Given the description of an element on the screen output the (x, y) to click on. 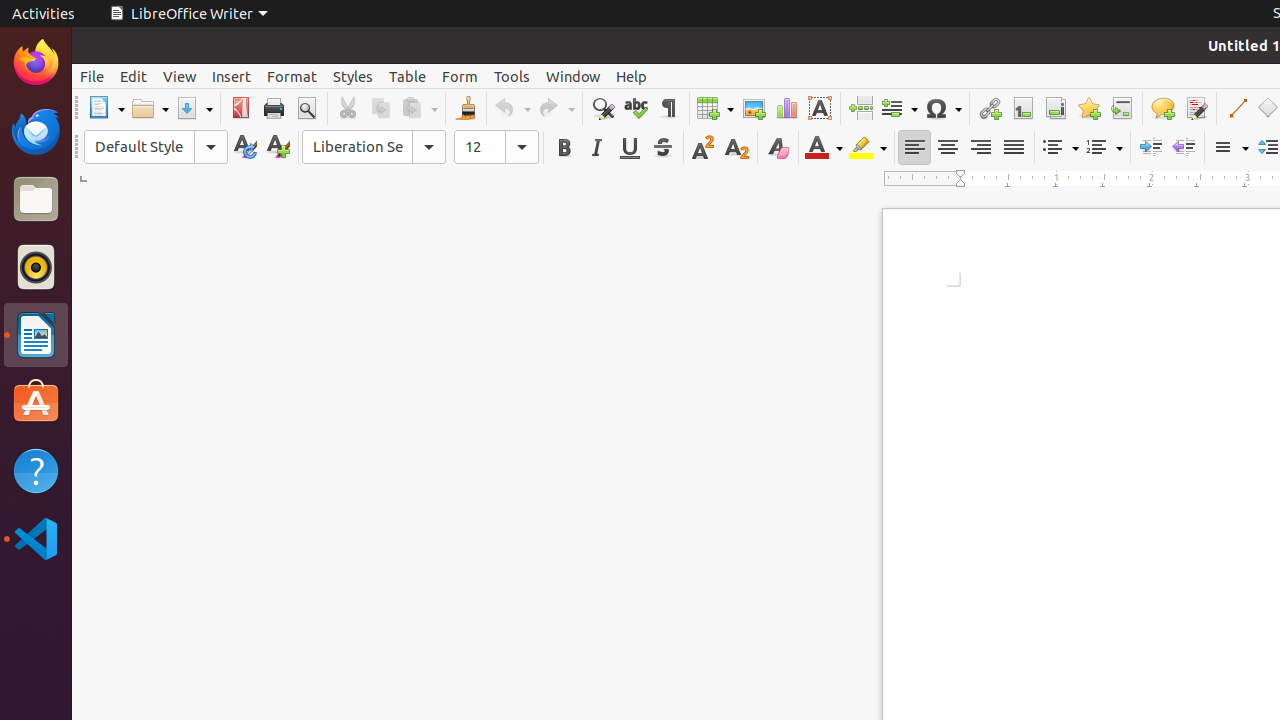
Subscript Element type: toggle-button (736, 147)
Right Element type: toggle-button (980, 147)
Help Element type: push-button (36, 470)
Chart Element type: push-button (786, 108)
Paste Element type: push-button (419, 108)
